Given the description of an element on the screen output the (x, y) to click on. 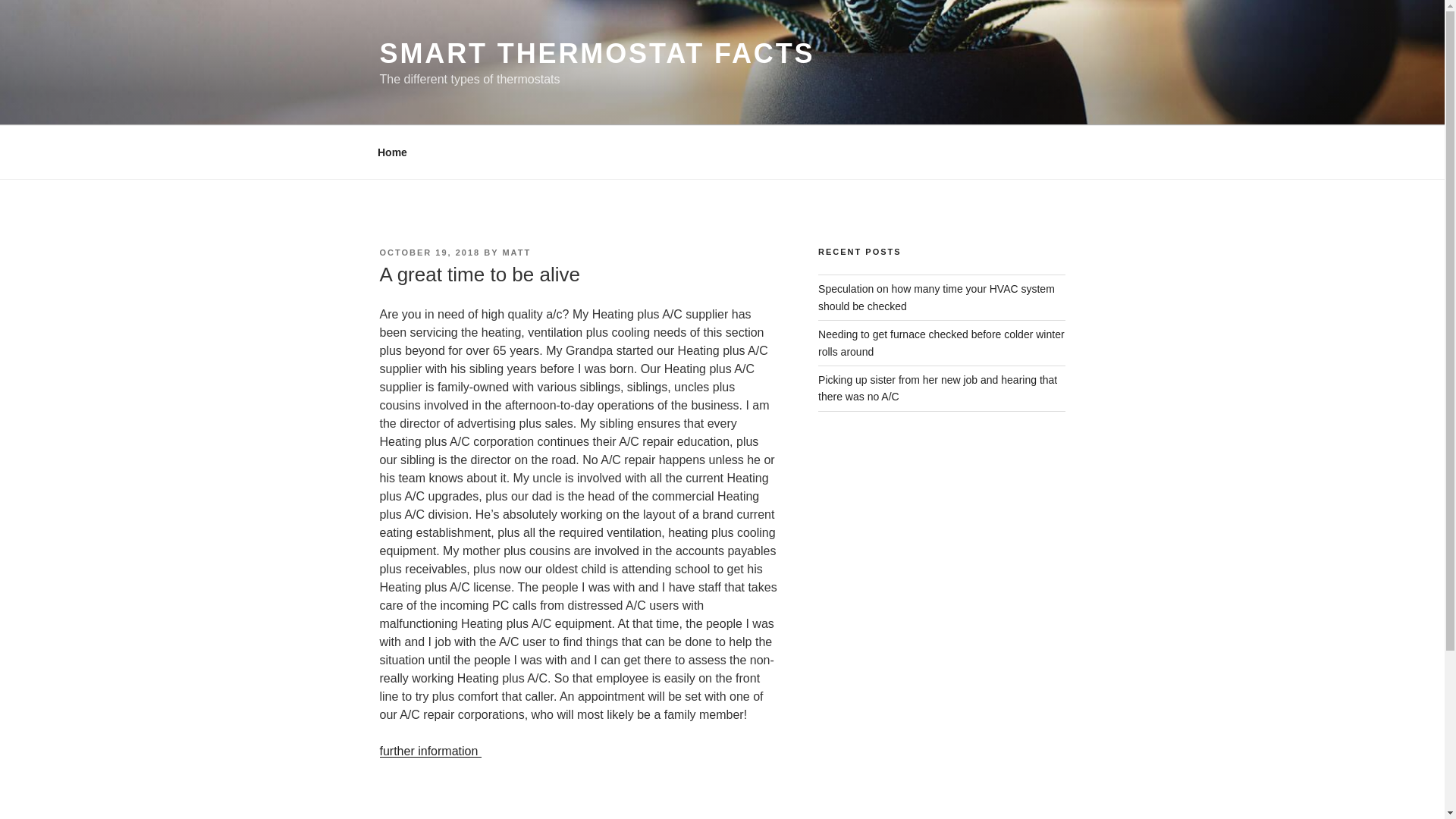
OCTOBER 19, 2018 (429, 252)
SMART THERMOSTAT FACTS (595, 52)
Home (392, 151)
further information  (429, 750)
MATT (516, 252)
